Given the description of an element on the screen output the (x, y) to click on. 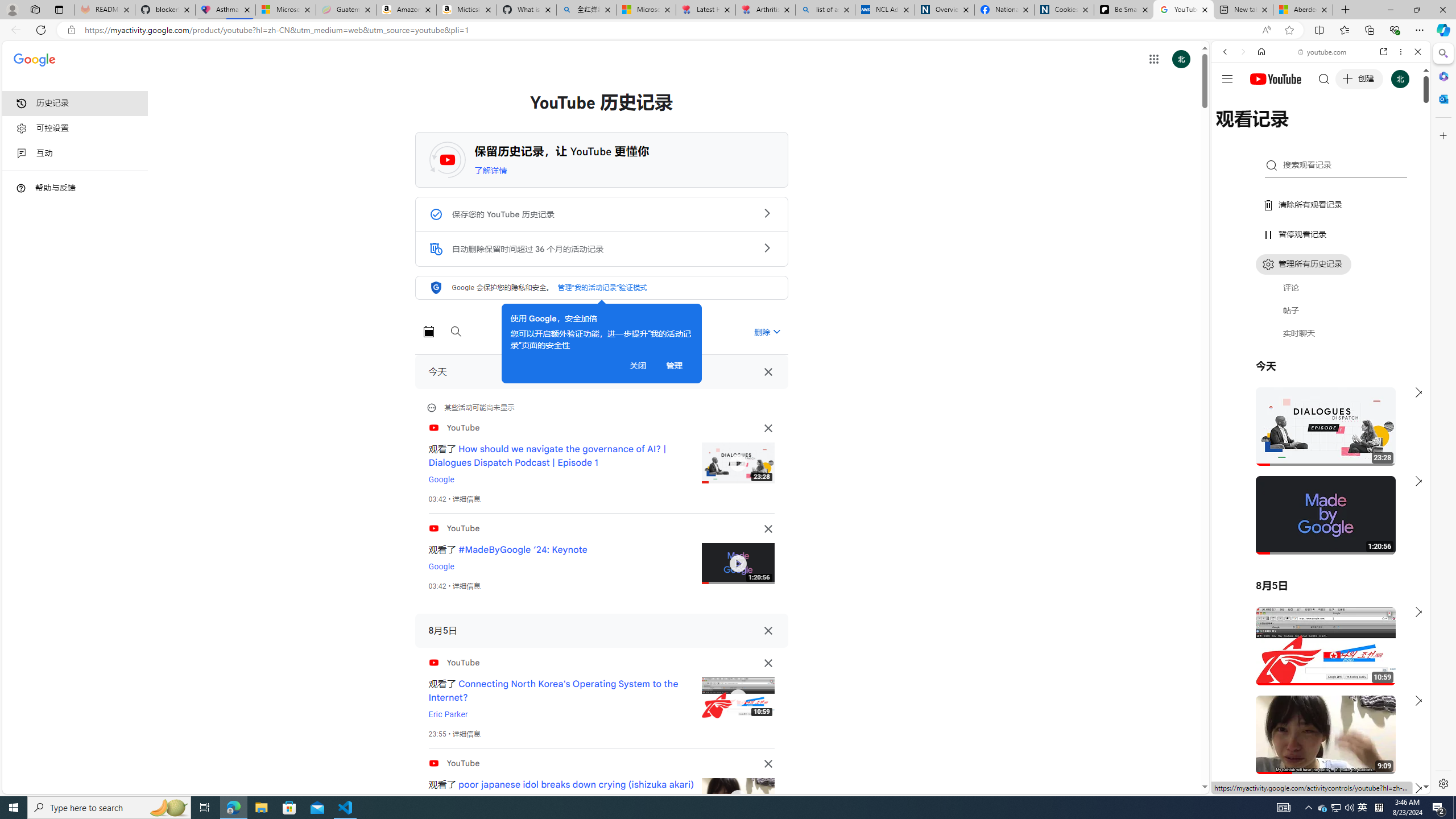
Trailer #2 [HD] (1320, 336)
Search Filter, IMAGES (1262, 129)
Class: k1qAtf NMm5M (435, 248)
Class: TjcpUd NMm5M (767, 763)
youtube.com (1322, 51)
Class: gD71Gb NMm5M hhikbc (767, 247)
NCL Adult Asthma Inhaler Choice Guideline (885, 9)
